Given the description of an element on the screen output the (x, y) to click on. 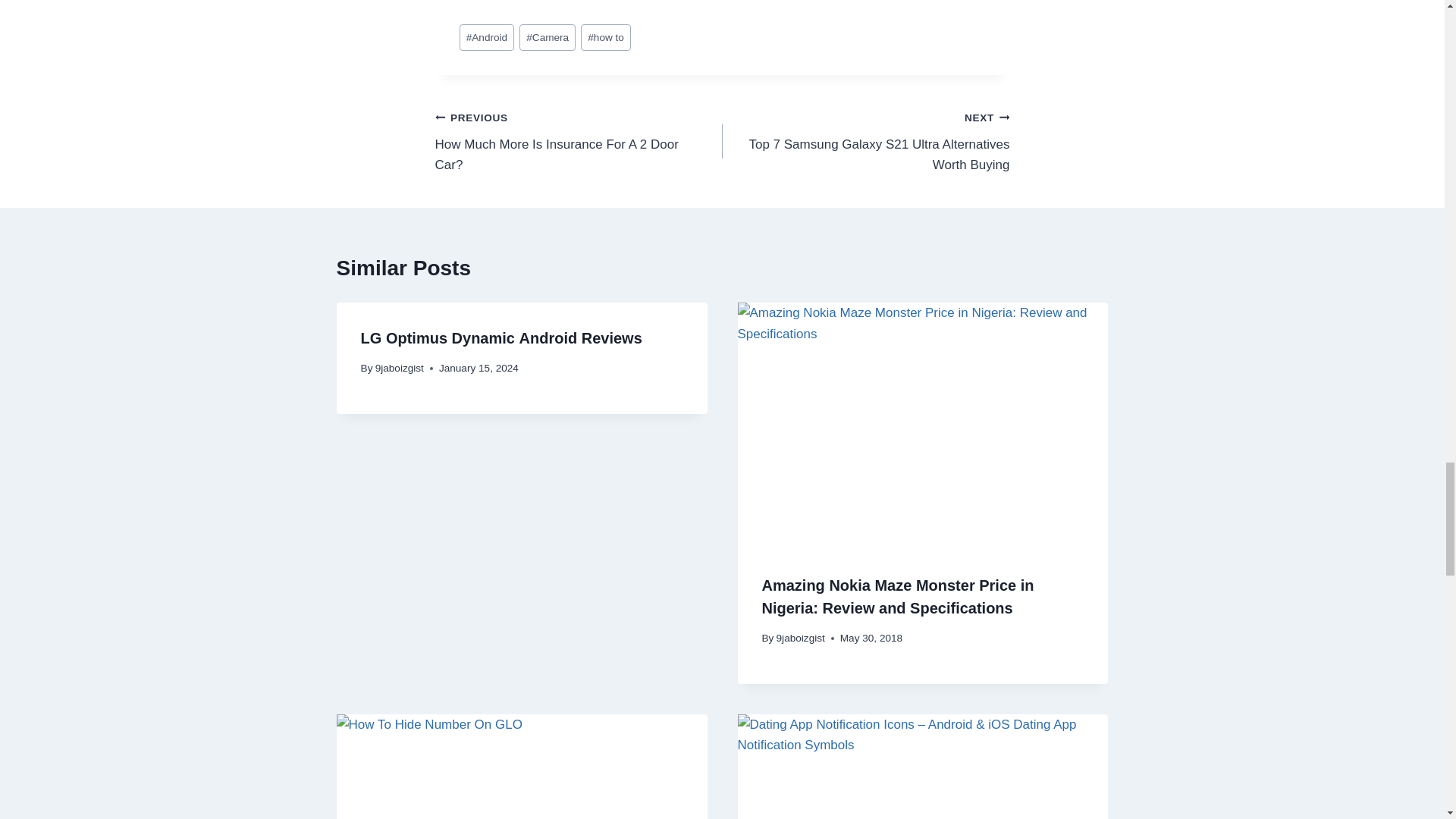
how to (605, 37)
Android (487, 37)
Camera (547, 37)
